Given the description of an element on the screen output the (x, y) to click on. 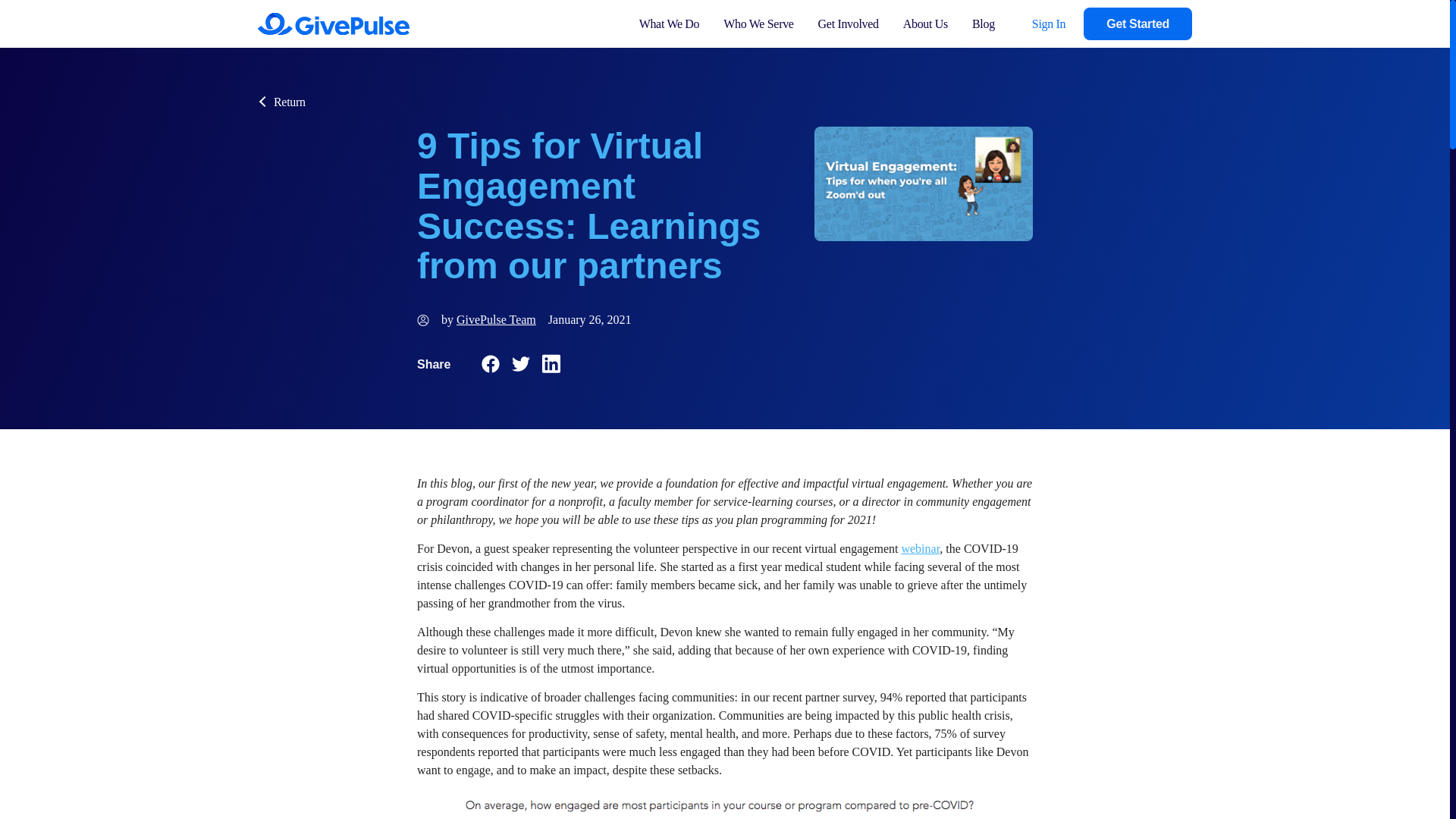
Who We Serve (758, 23)
Get Involved (848, 23)
About Us (924, 23)
What We Do (669, 23)
